Given the description of an element on the screen output the (x, y) to click on. 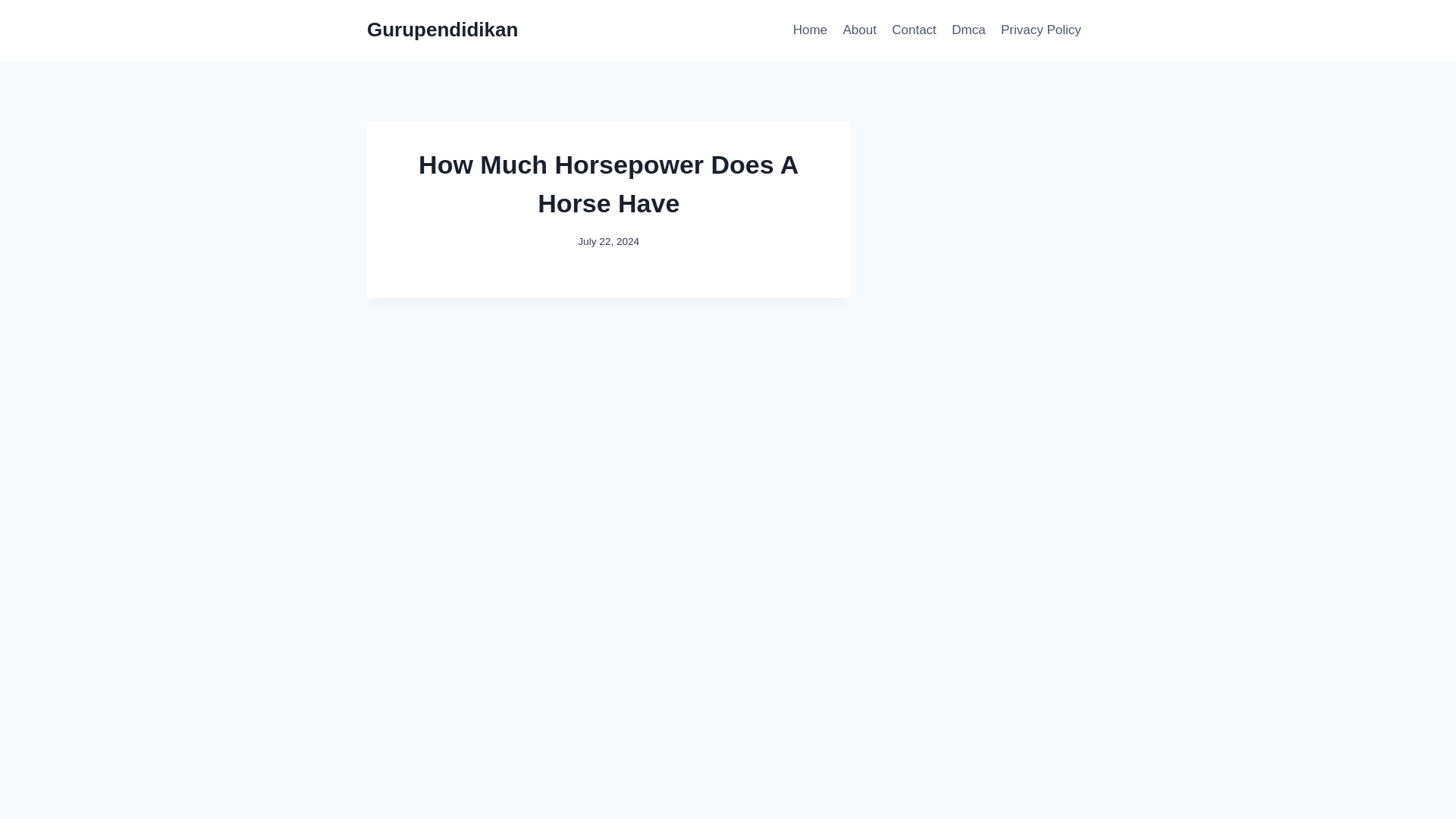
Contact (913, 30)
Dmca (967, 30)
Privacy Policy (1040, 30)
About (858, 30)
Home (810, 30)
Gurupendidikan (442, 29)
